Given the description of an element on the screen output the (x, y) to click on. 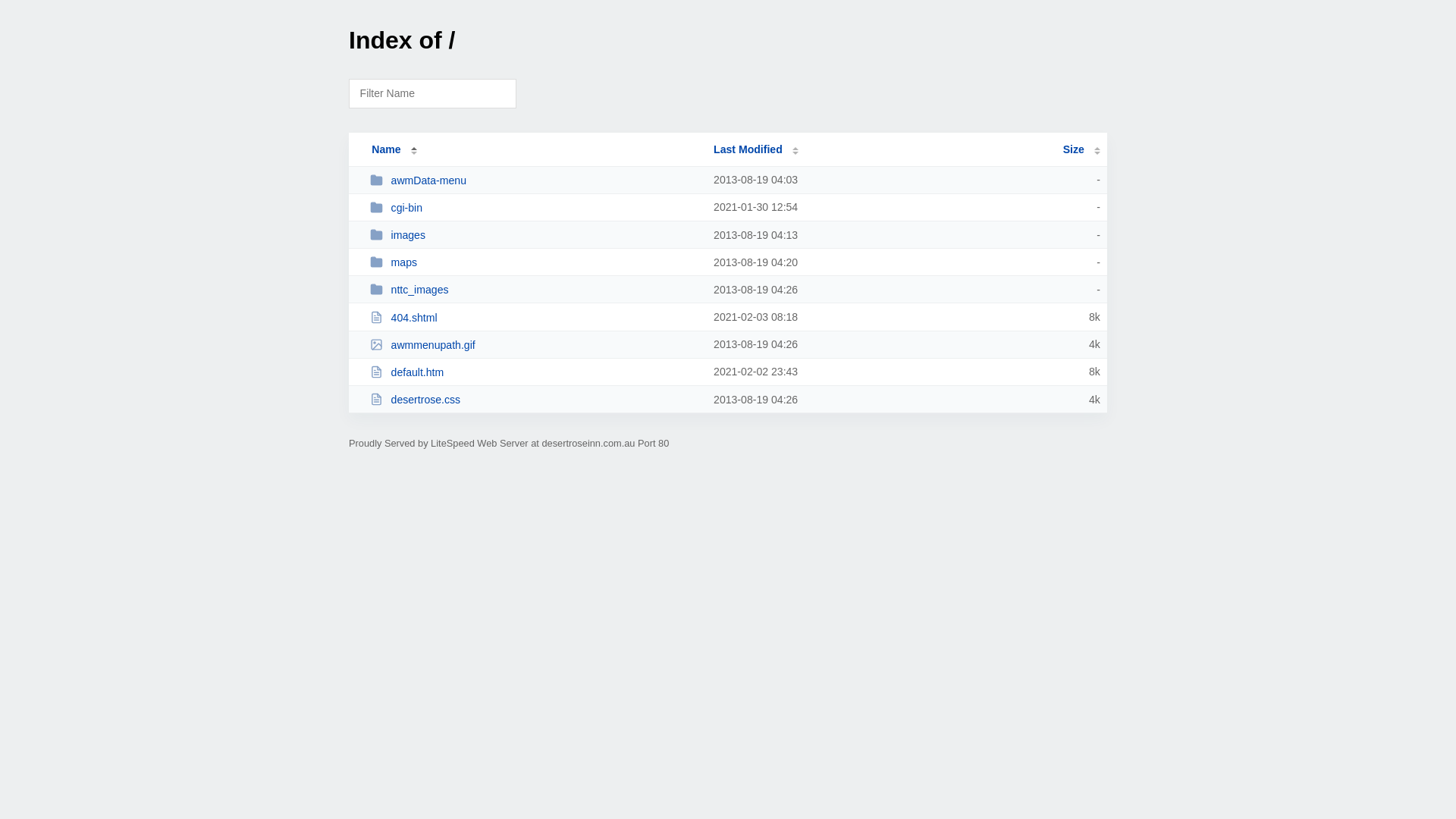
awmmenupath.gif Element type: text (534, 344)
images Element type: text (534, 234)
Size Element type: text (1081, 149)
404.shtml Element type: text (534, 316)
default.htm Element type: text (534, 371)
maps Element type: text (534, 261)
desertrose.css Element type: text (534, 398)
cgi-bin Element type: text (534, 206)
awmData-menu Element type: text (534, 179)
Last Modified Element type: text (755, 149)
nttc_images Element type: text (534, 288)
Name Element type: text (385, 149)
